Given the description of an element on the screen output the (x, y) to click on. 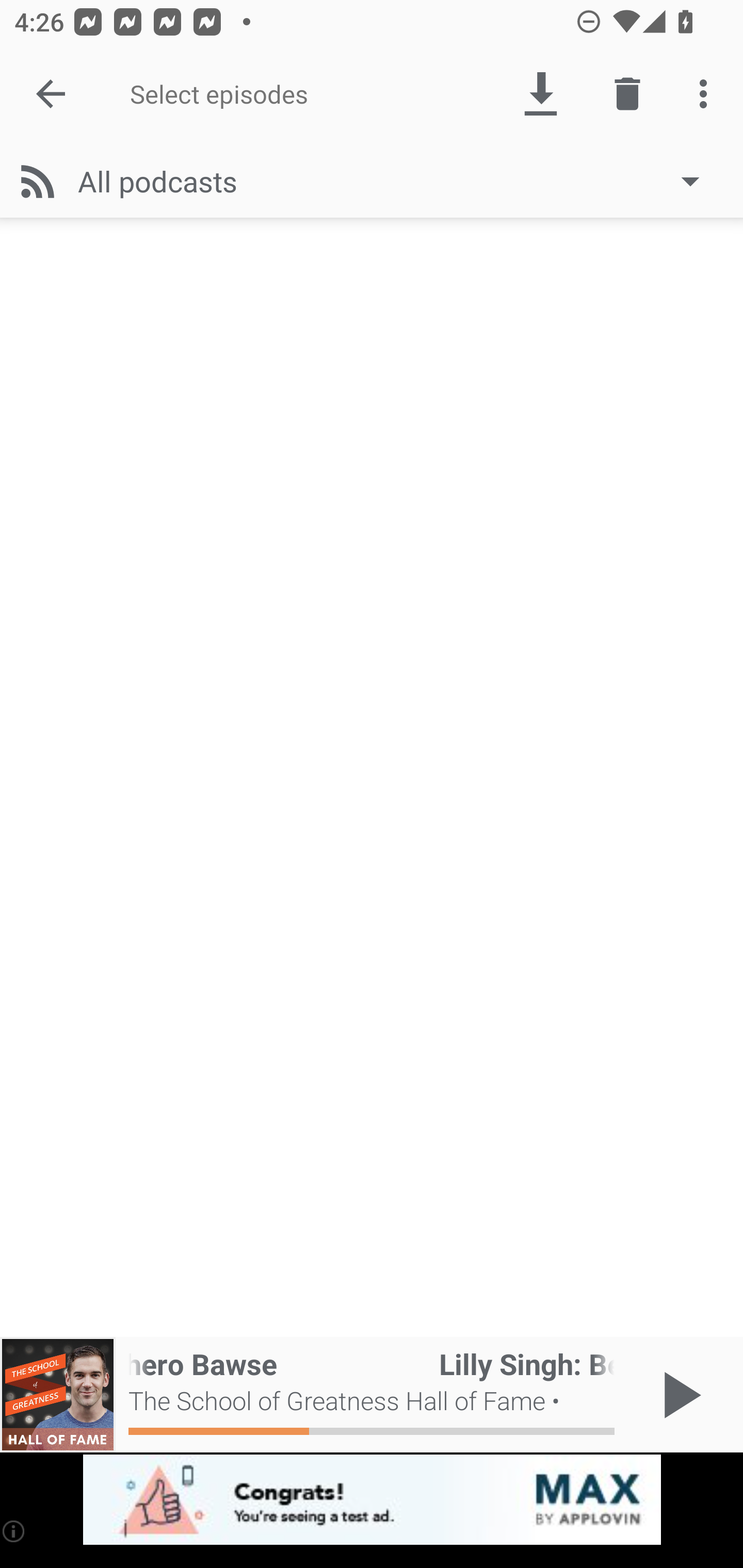
Done (50, 93)
Download (540, 93)
Delete episode (626, 93)
More options (706, 93)
All podcasts (398, 180)
Play / Pause (677, 1394)
app-monetization (371, 1500)
(i) (14, 1531)
